Given the description of an element on the screen output the (x, y) to click on. 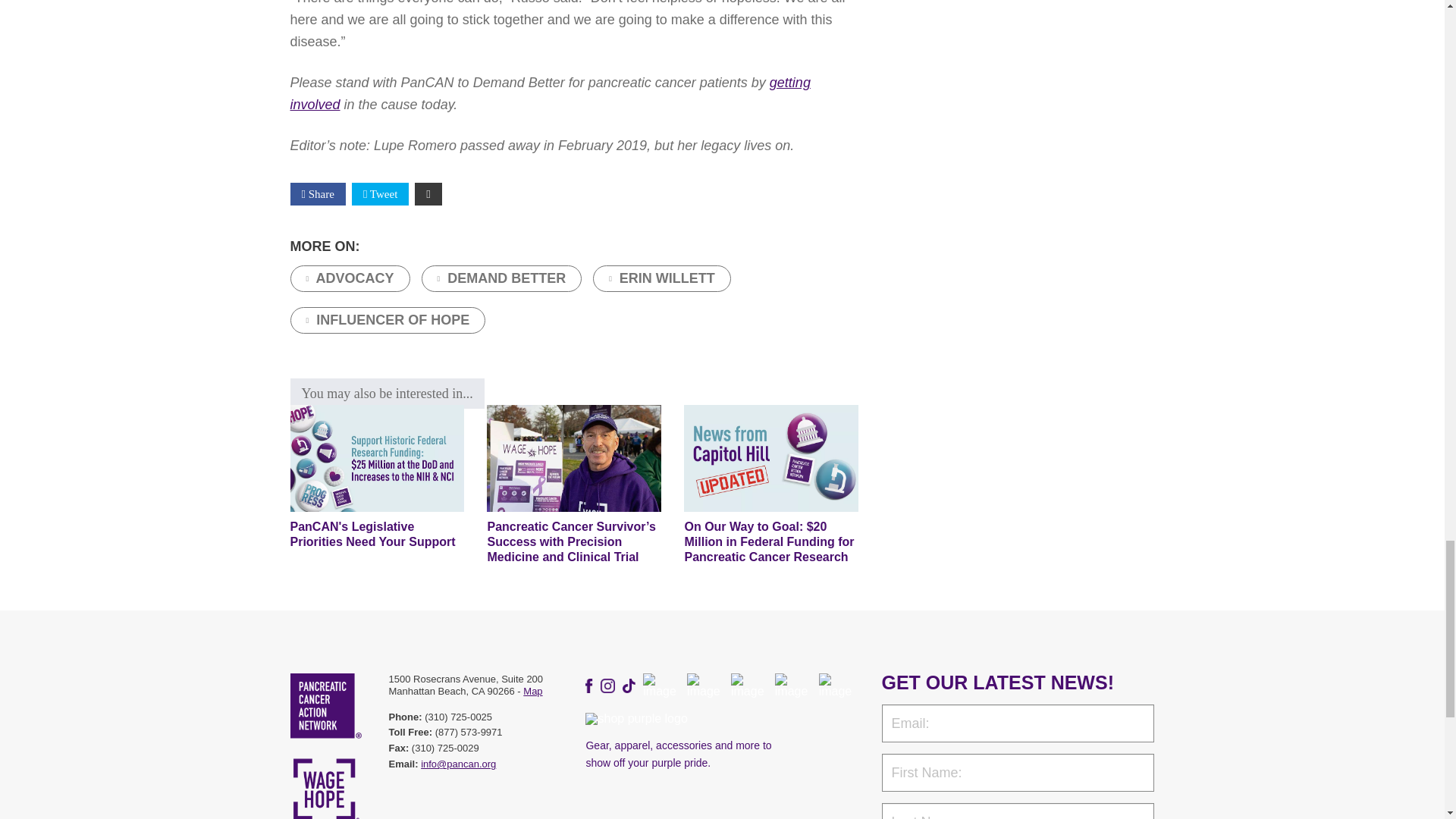
Follow us on Threads (661, 685)
Follow us on Twitter (705, 685)
Follow us on LinkedIn (748, 685)
PanCAN's Legislative Priorities Need Your Support (376, 457)
Follow us on TikTok (628, 685)
Follow us on Instagram (606, 685)
